Given the description of an element on the screen output the (x, y) to click on. 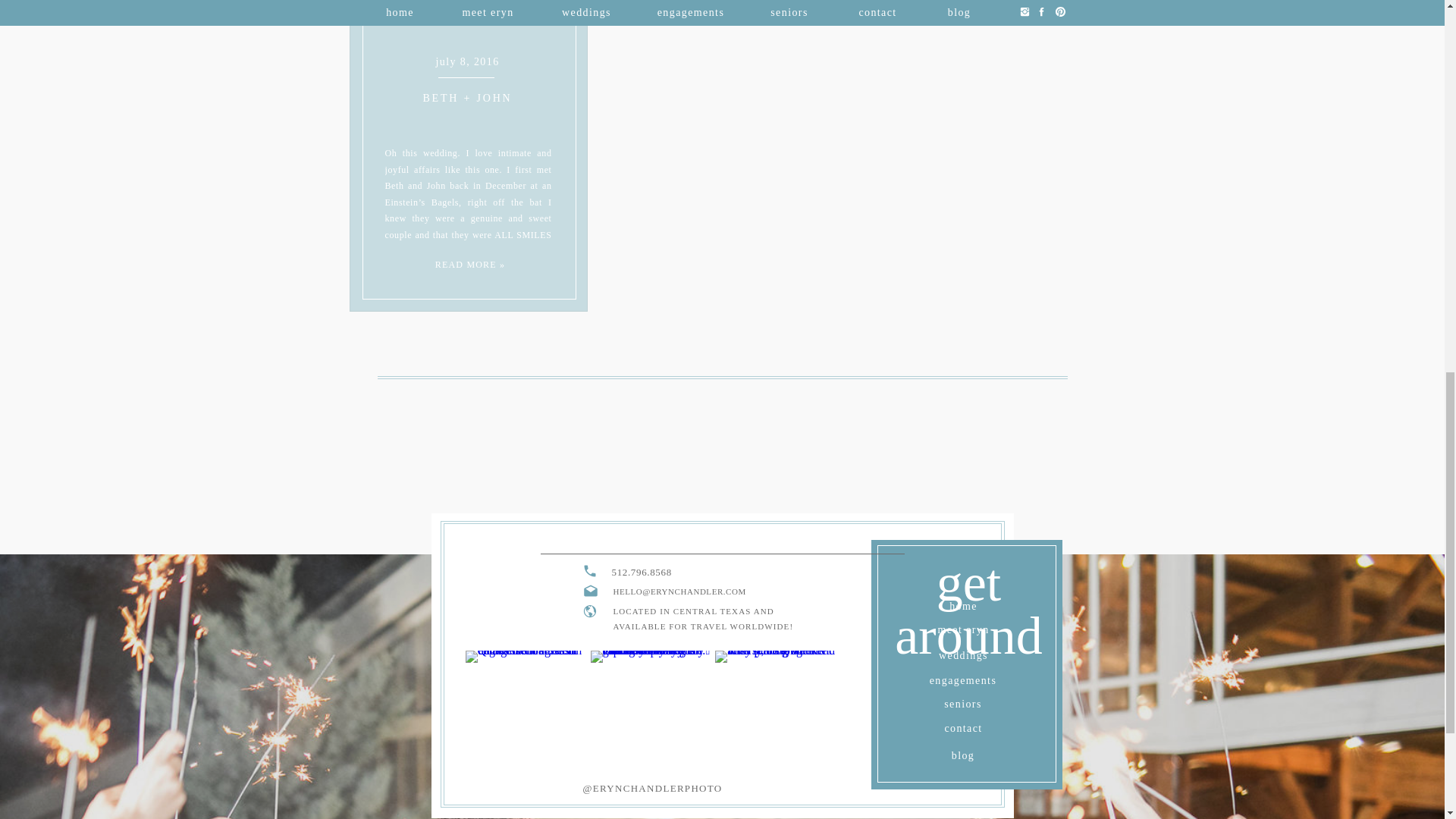
weddings (963, 653)
home (962, 603)
512.796.8568 (709, 572)
engagements (962, 677)
blog (962, 753)
meet eryn (963, 626)
seniors (962, 701)
contact (963, 726)
